Given the description of an element on the screen output the (x, y) to click on. 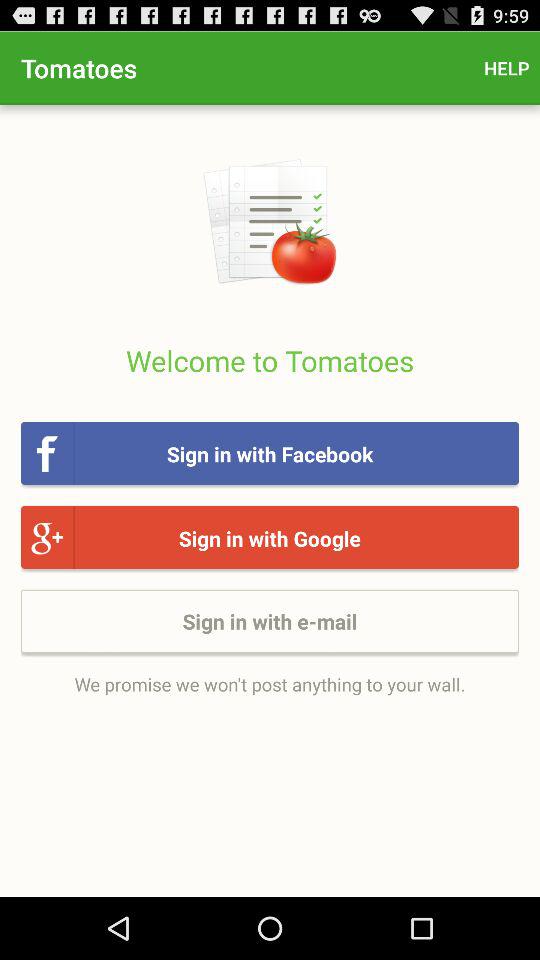
launch item at the top right corner (506, 67)
